Given the description of an element on the screen output the (x, y) to click on. 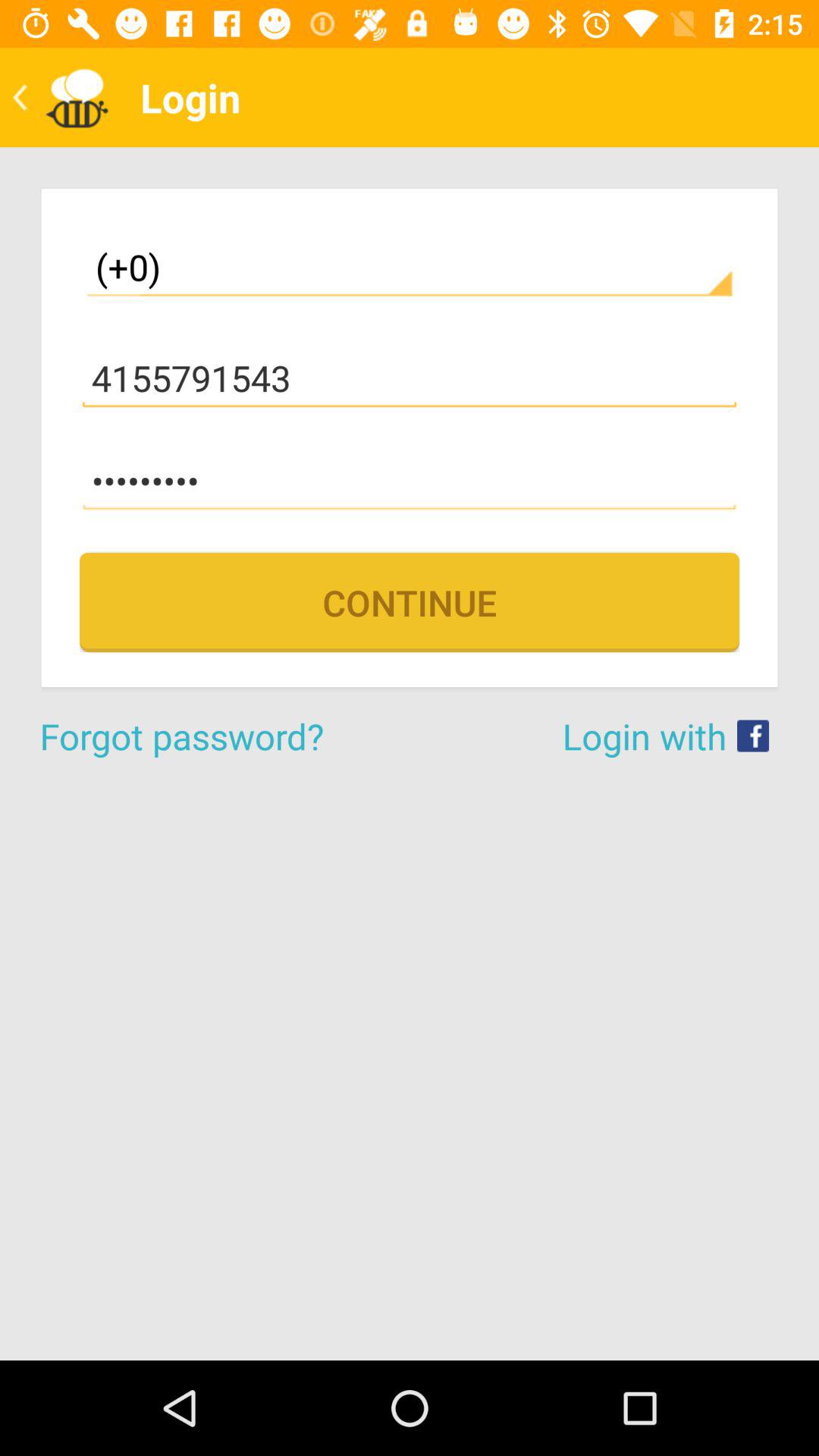
launch the item above continue item (409, 481)
